Given the description of an element on the screen output the (x, y) to click on. 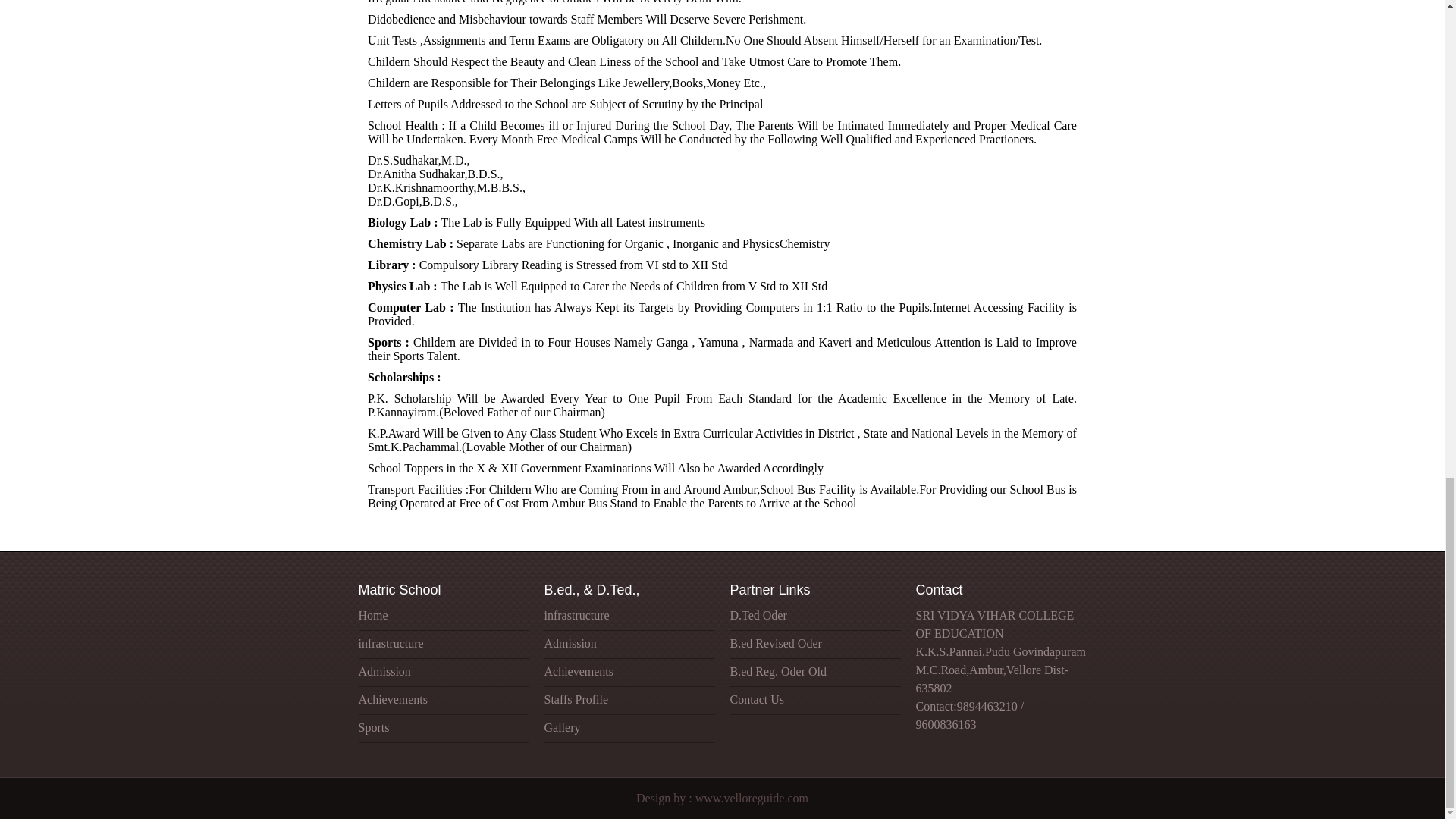
Home (372, 615)
Admission (384, 671)
infrastructure (390, 643)
